Given the description of an element on the screen output the (x, y) to click on. 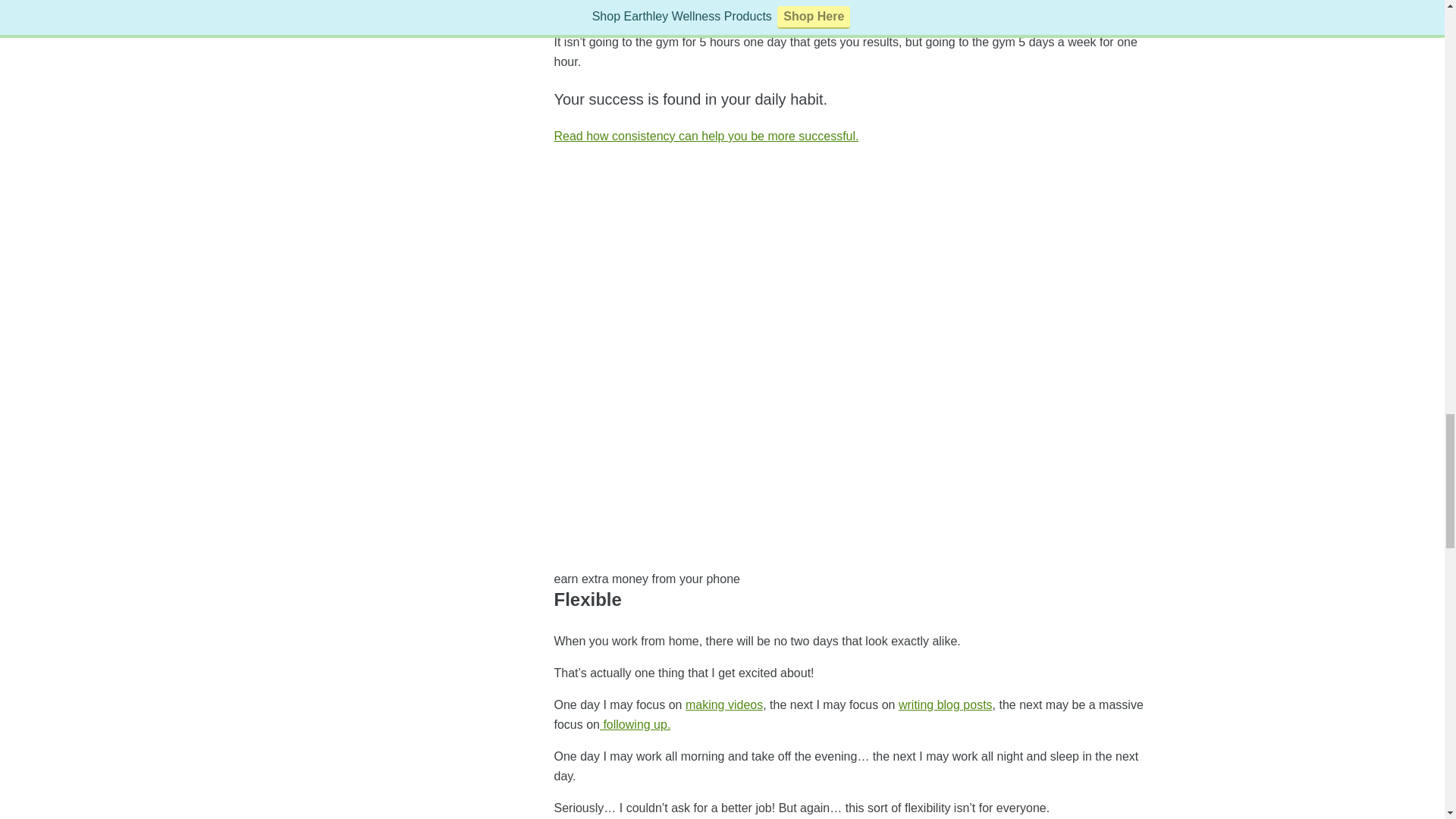
following up. (634, 724)
making videos (723, 704)
writing blog posts (945, 704)
Read how consistency can help you be more successful. (706, 135)
